Given the description of an element on the screen output the (x, y) to click on. 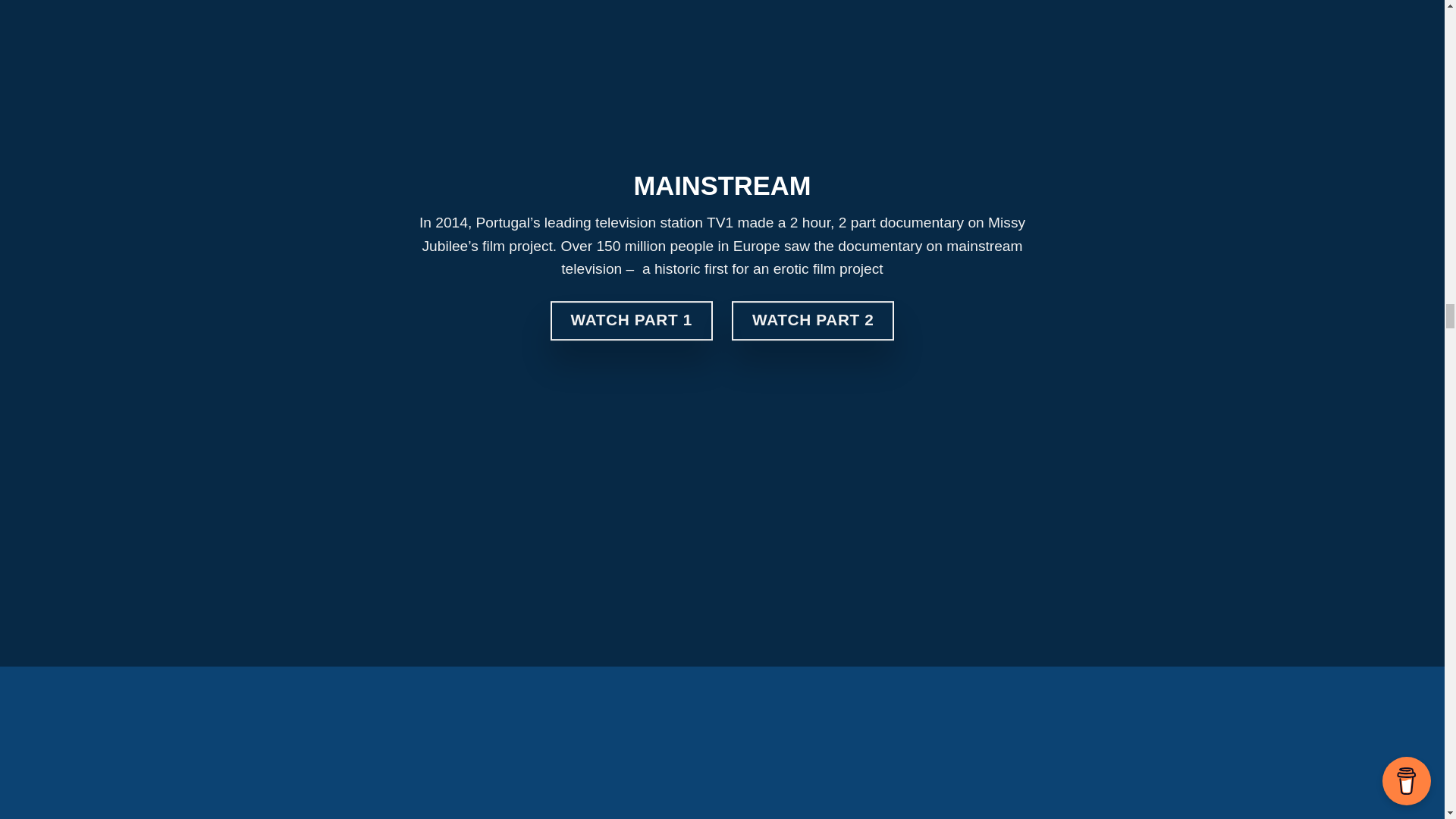
WATCH PART 1 (631, 321)
WATCH PART 2 (812, 321)
